Given the description of an element on the screen output the (x, y) to click on. 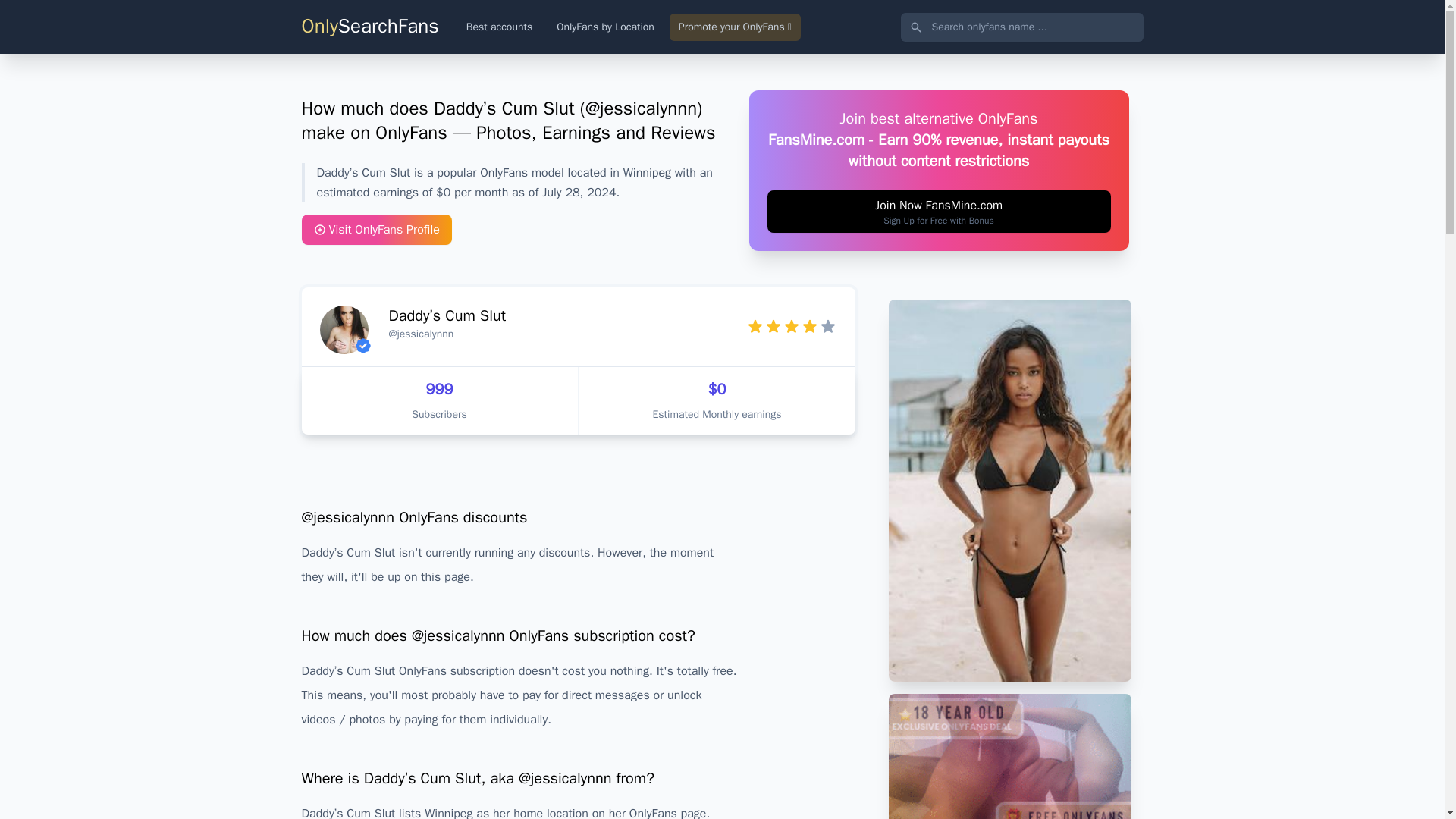
Promote your OnlyFans (734, 26)
OnlySearchFans (370, 25)
OnlyFans by Location (605, 26)
Visit OnlyFans Profile (376, 229)
Best accounts (499, 26)
